Given the description of an element on the screen output the (x, y) to click on. 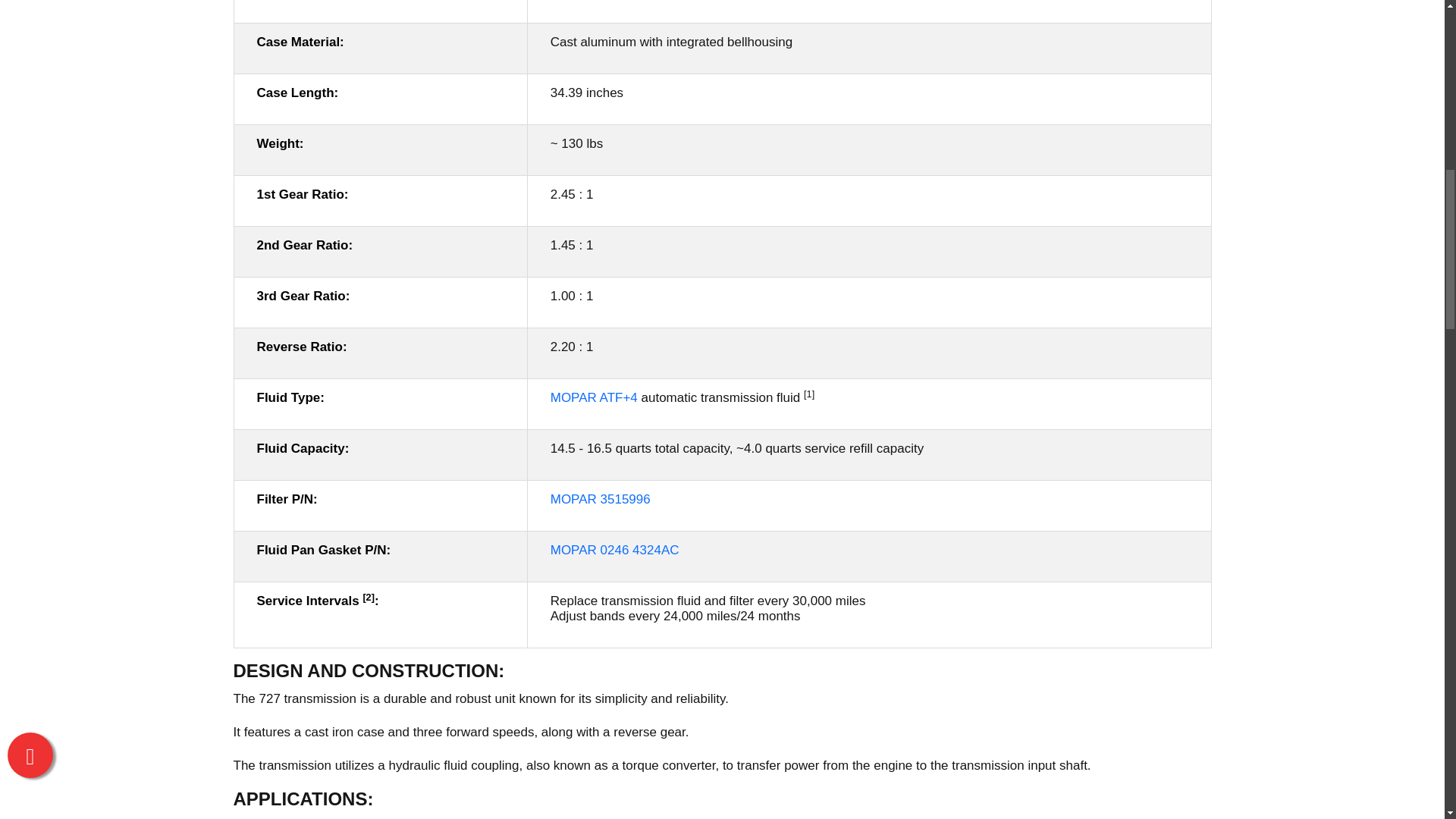
MOPAR 0246 4324AC (614, 549)
MOPAR 3515996 (600, 499)
